Given the description of an element on the screen output the (x, y) to click on. 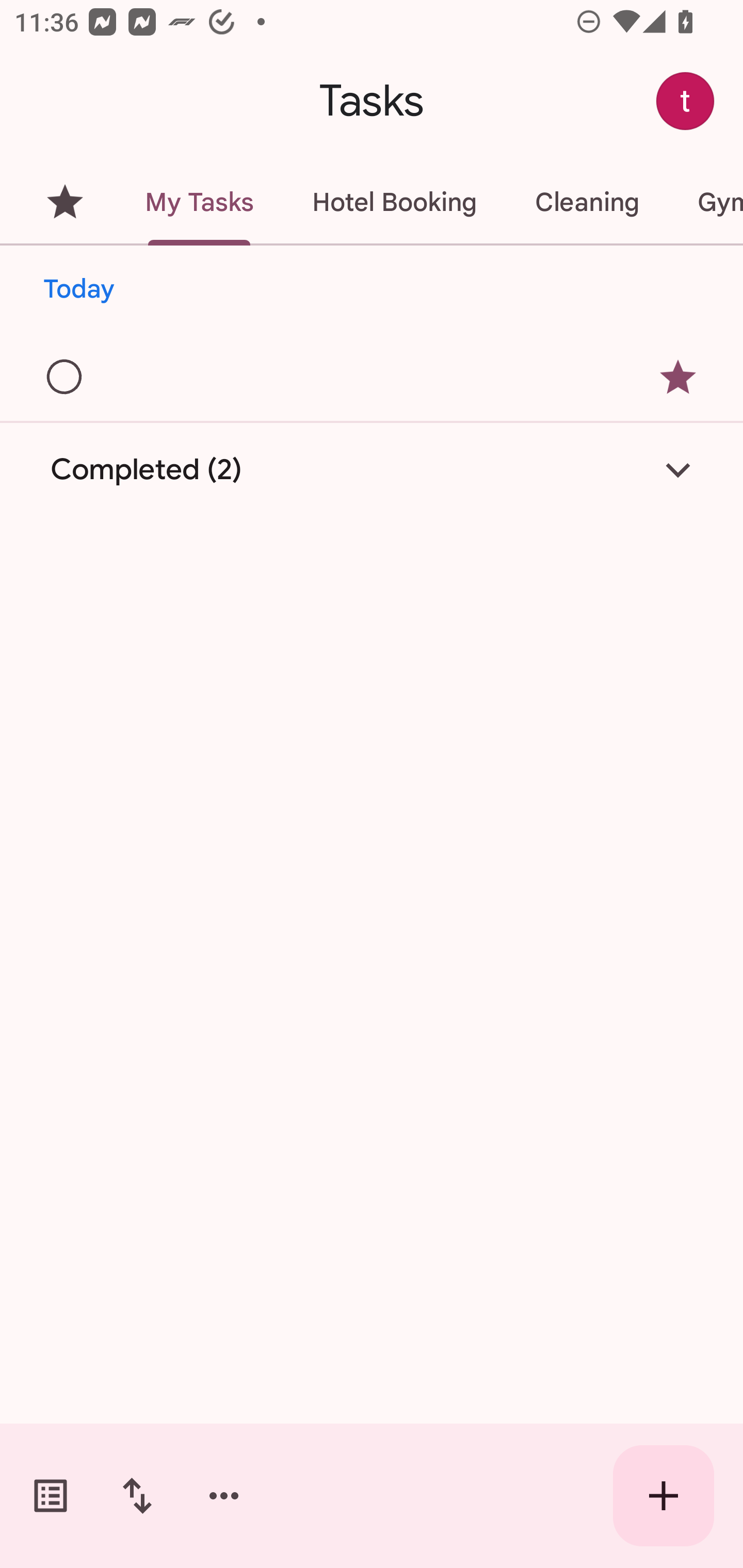
Starred (64, 202)
Hotel Booking (394, 202)
Cleaning (586, 202)
Remove star (677, 376)
Mark as complete (64, 377)
Completed (2) (371, 470)
Switch task lists (50, 1495)
Create new task (663, 1495)
Change sort order (136, 1495)
More options (223, 1495)
